Given the description of an element on the screen output the (x, y) to click on. 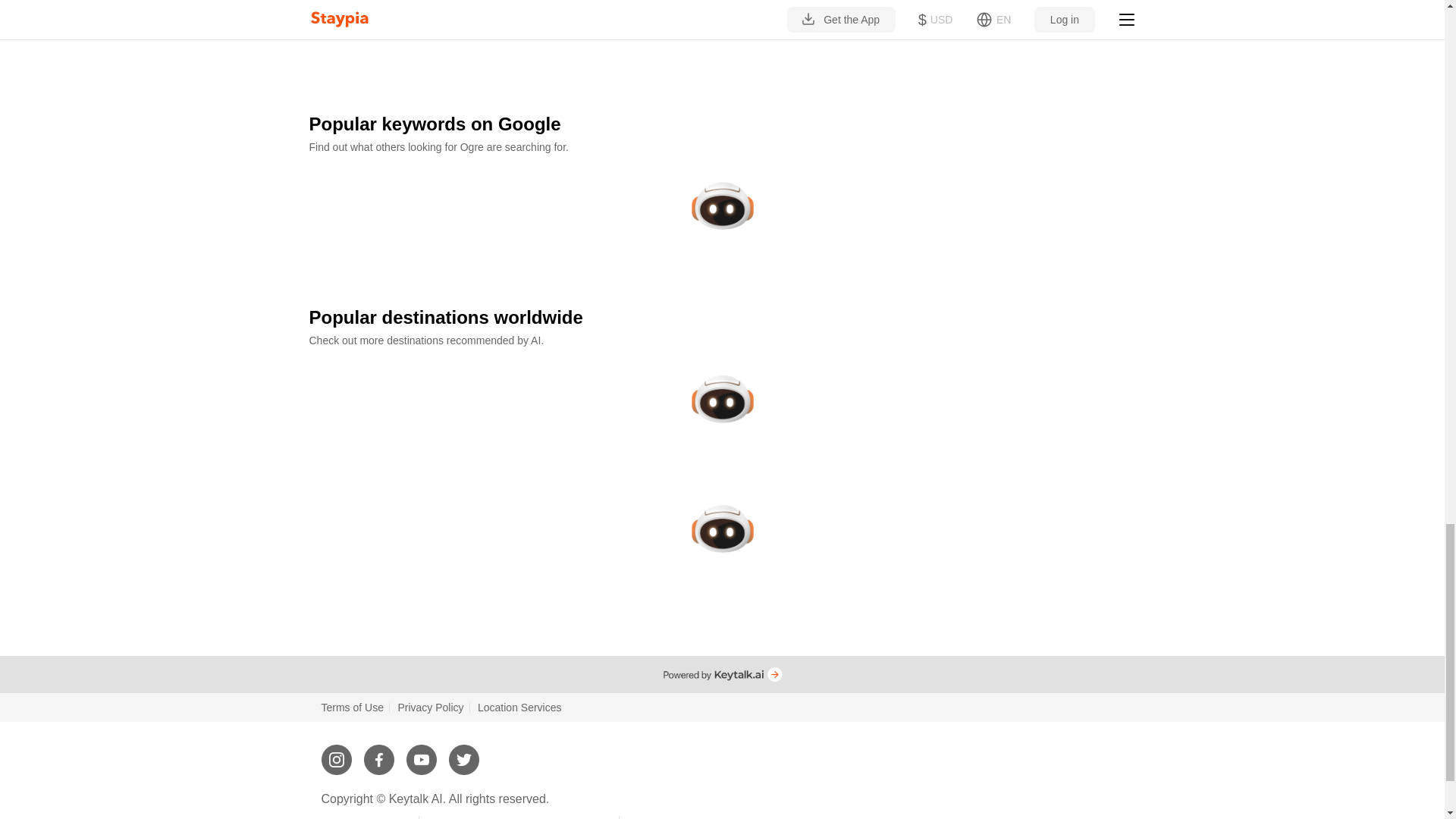
Privacy Policy (430, 706)
Location Services (519, 706)
youtube (421, 753)
instagram (336, 753)
twitter (463, 753)
facebook (379, 753)
Terms of Use (352, 706)
